Given the description of an element on the screen output the (x, y) to click on. 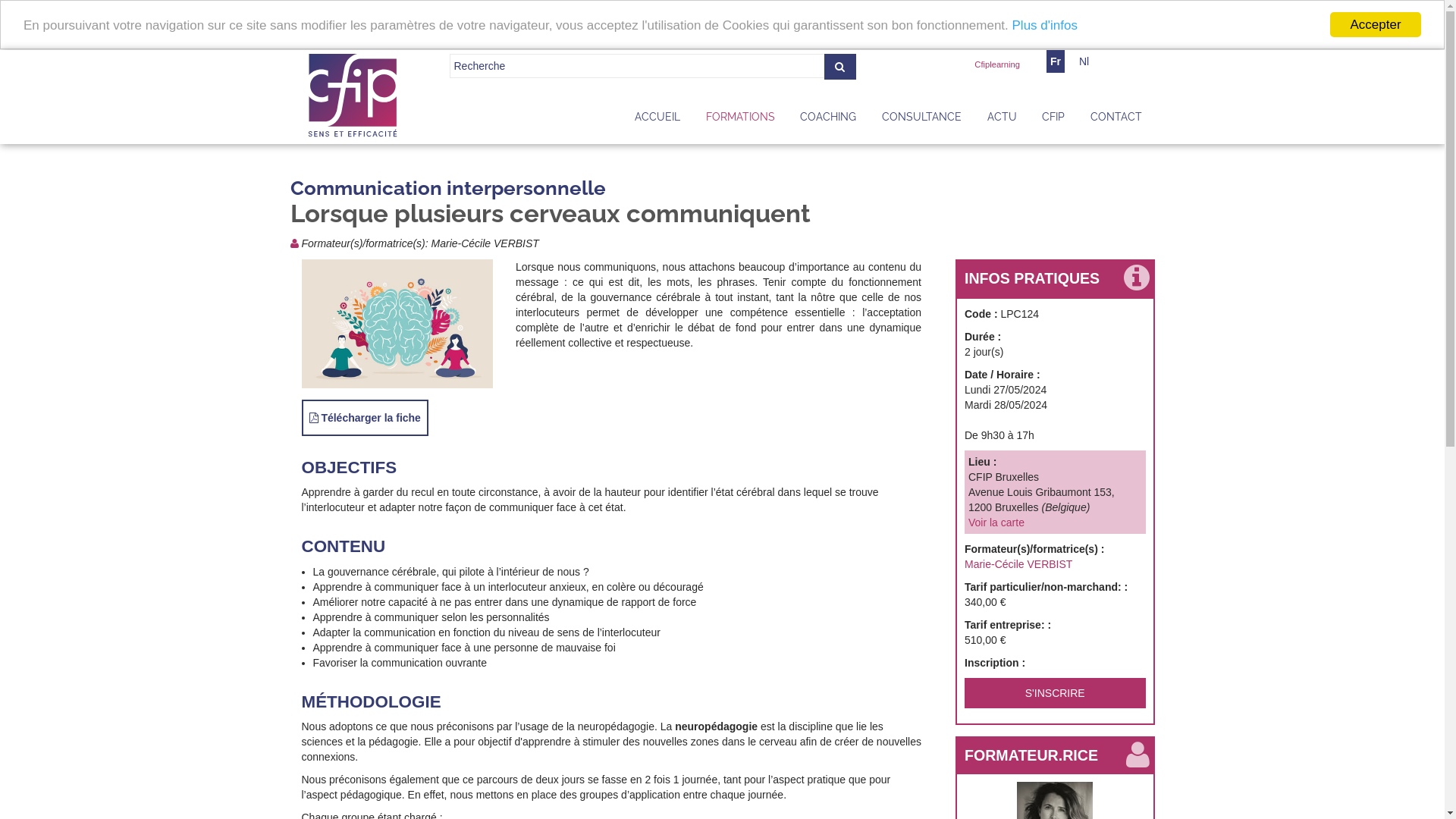
COACHING Element type: text (828, 120)
www.cfip-france.fr Element type: text (776, 769)
CONSULTANCE Element type: text (921, 120)
Communication interpersonnelle Element type: text (447, 187)
ACCUEIL Element type: text (657, 120)
Cfiplearning Element type: text (996, 64)
CFIP Element type: hover (352, 95)
secretariat@cfip.com Element type: text (796, 754)
Accepter Element type: text (1375, 24)
FORMATIONS Element type: text (740, 120)
Nl Element type: text (1083, 61)
CFIP Element type: text (746, 796)
Antalys Element type: text (707, 796)
ACTU Element type: text (1001, 120)
CFIP Element type: text (1053, 120)
S'INSCRIRE Element type: text (1054, 692)
Voir la carte Element type: text (996, 522)
CONTACT Element type: text (1115, 120)
AGENDA DES FORMATIONS Element type: text (1054, 654)
secretariat@cfip.be Element type: text (792, 711)
S'inscrire Element type: text (1059, 716)
Plus d'infos Element type: text (1044, 25)
